Given the description of an element on the screen output the (x, y) to click on. 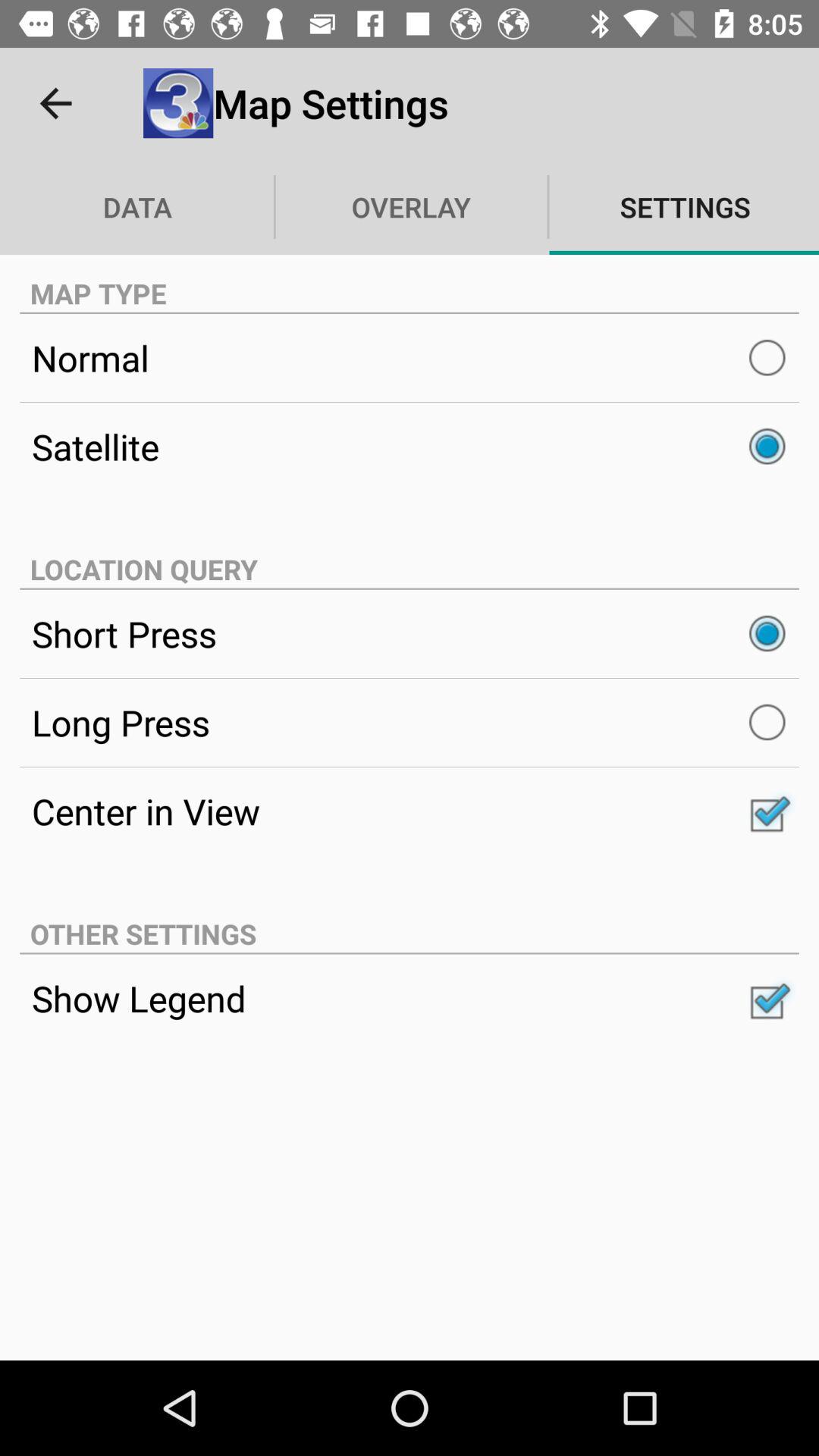
turn off item below short press item (409, 722)
